Given the description of an element on the screen output the (x, y) to click on. 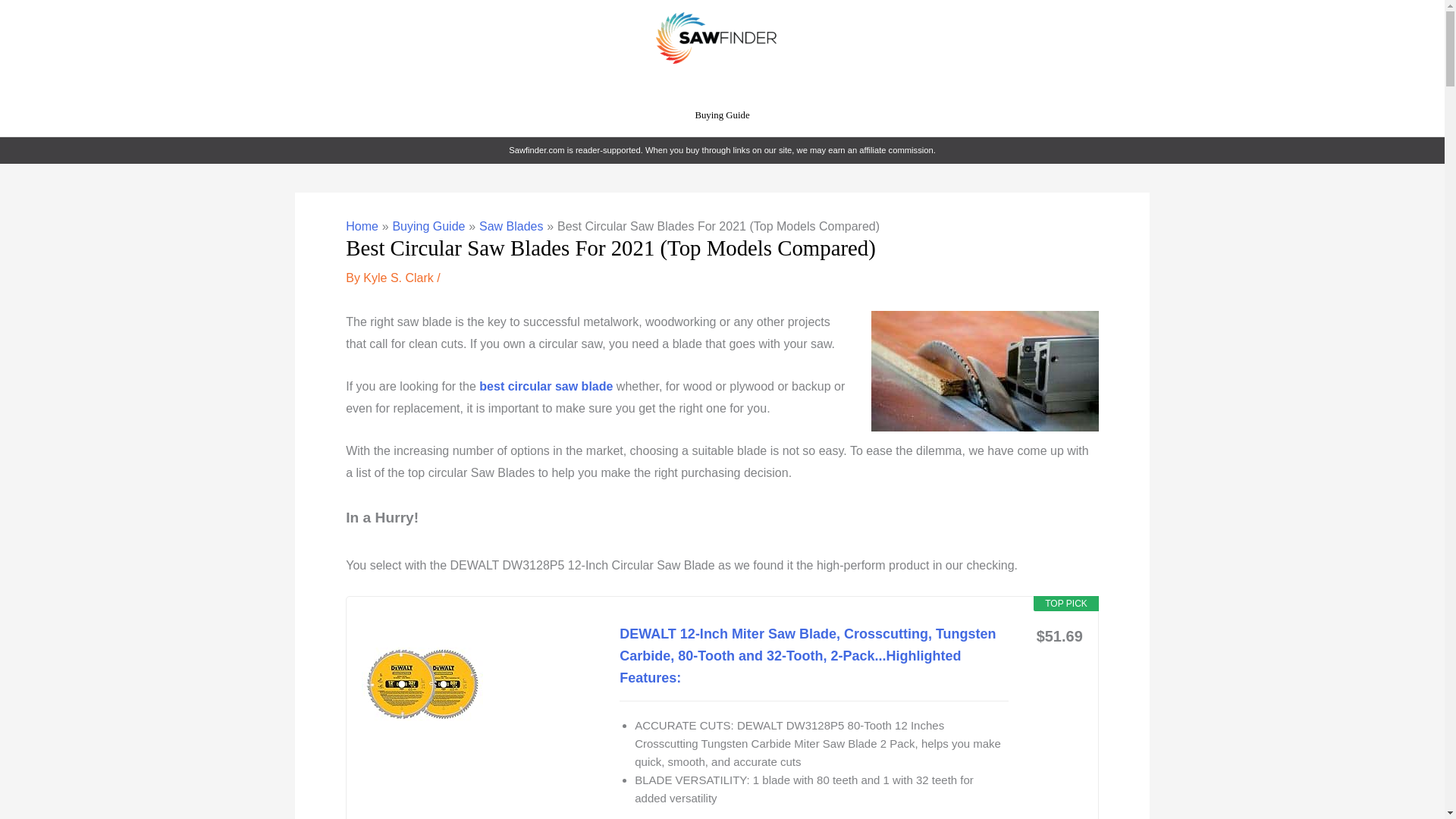
best circular saw blade (545, 386)
Saw Blades (511, 226)
Amazon Prime (1062, 658)
View all posts by Kyle S. Clark (399, 277)
Kyle S. Clark (399, 277)
Buying Guide (722, 115)
Home (362, 226)
Buying Guide (427, 226)
